Given the description of an element on the screen output the (x, y) to click on. 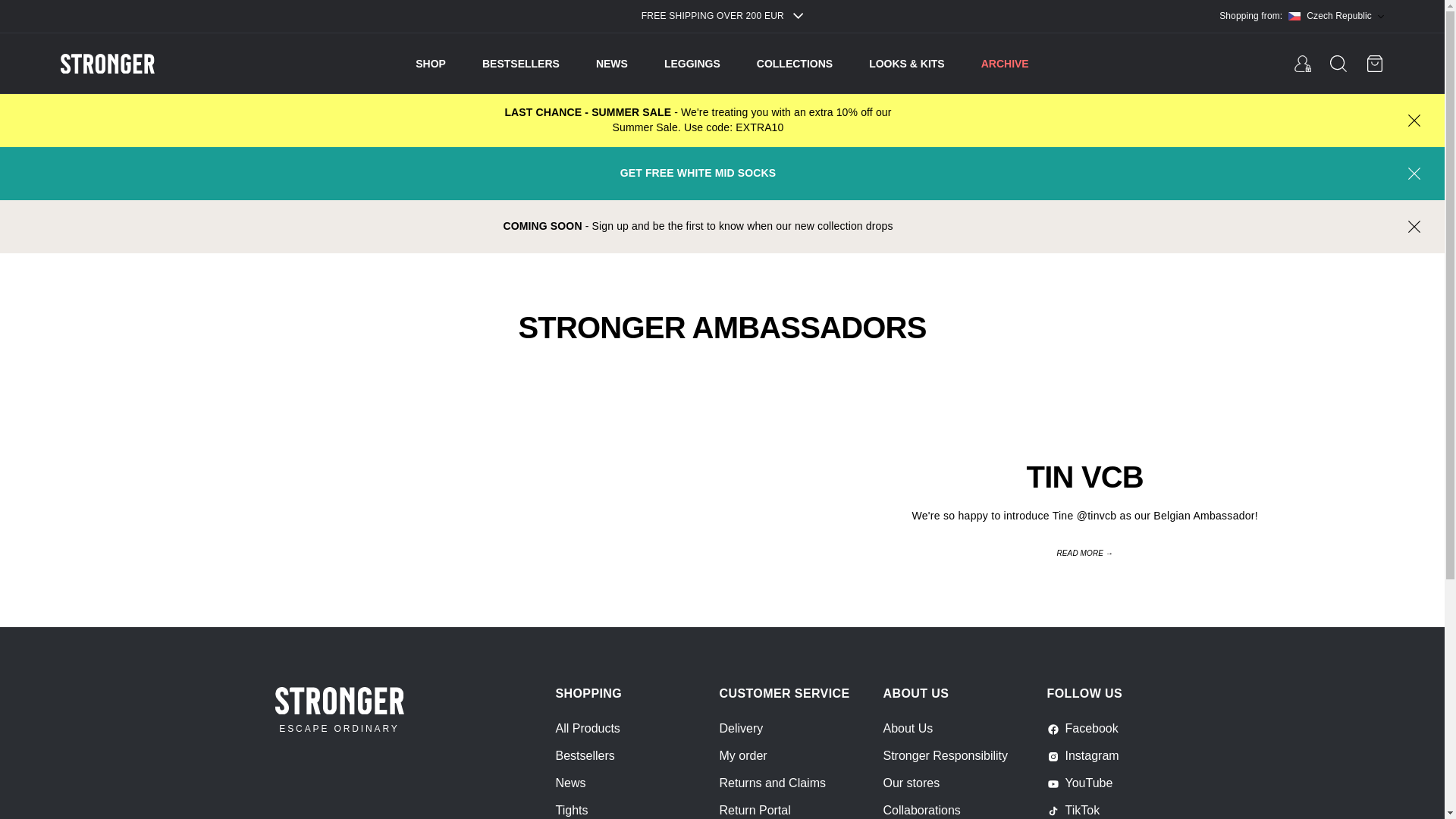
Open search (1338, 63)
Open cart (1374, 63)
TIN VCB (1084, 476)
COLLECTIONS (794, 63)
BESTSELLERS (520, 63)
LEGGINGS (691, 63)
Stronger (144, 64)
